Given the description of an element on the screen output the (x, y) to click on. 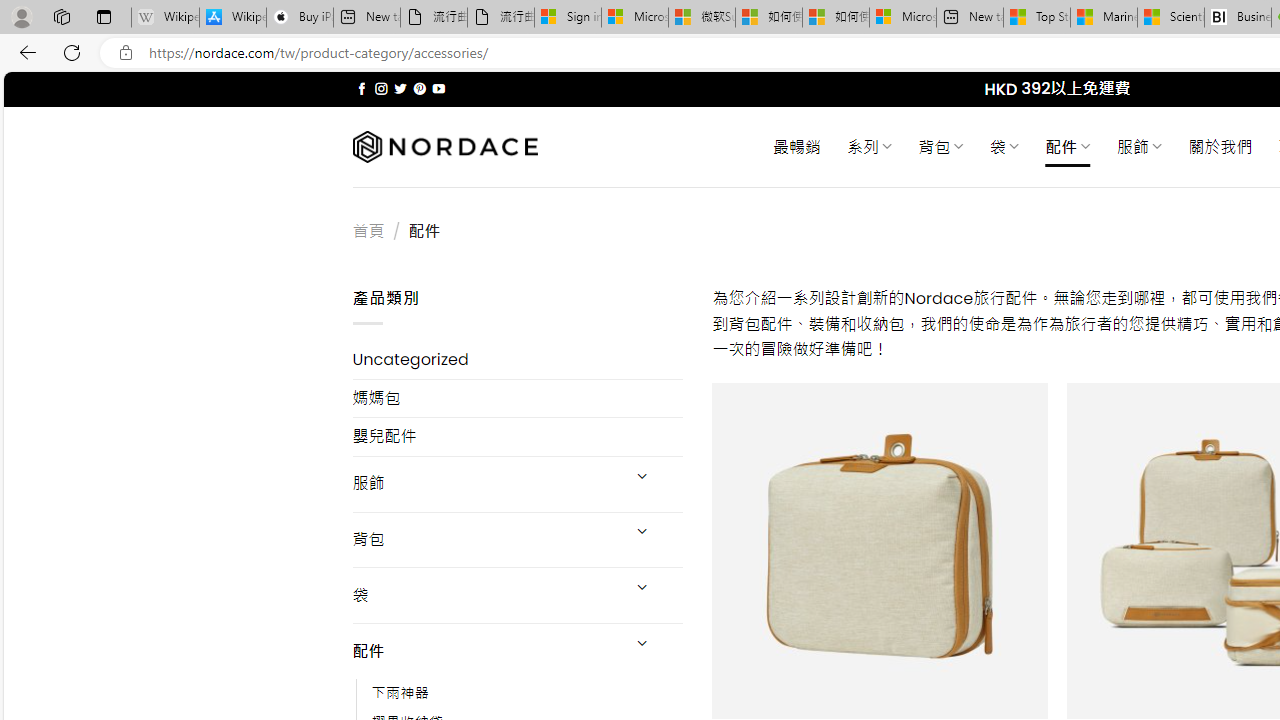
Uncategorized (517, 359)
